Given the description of an element on the screen output the (x, y) to click on. 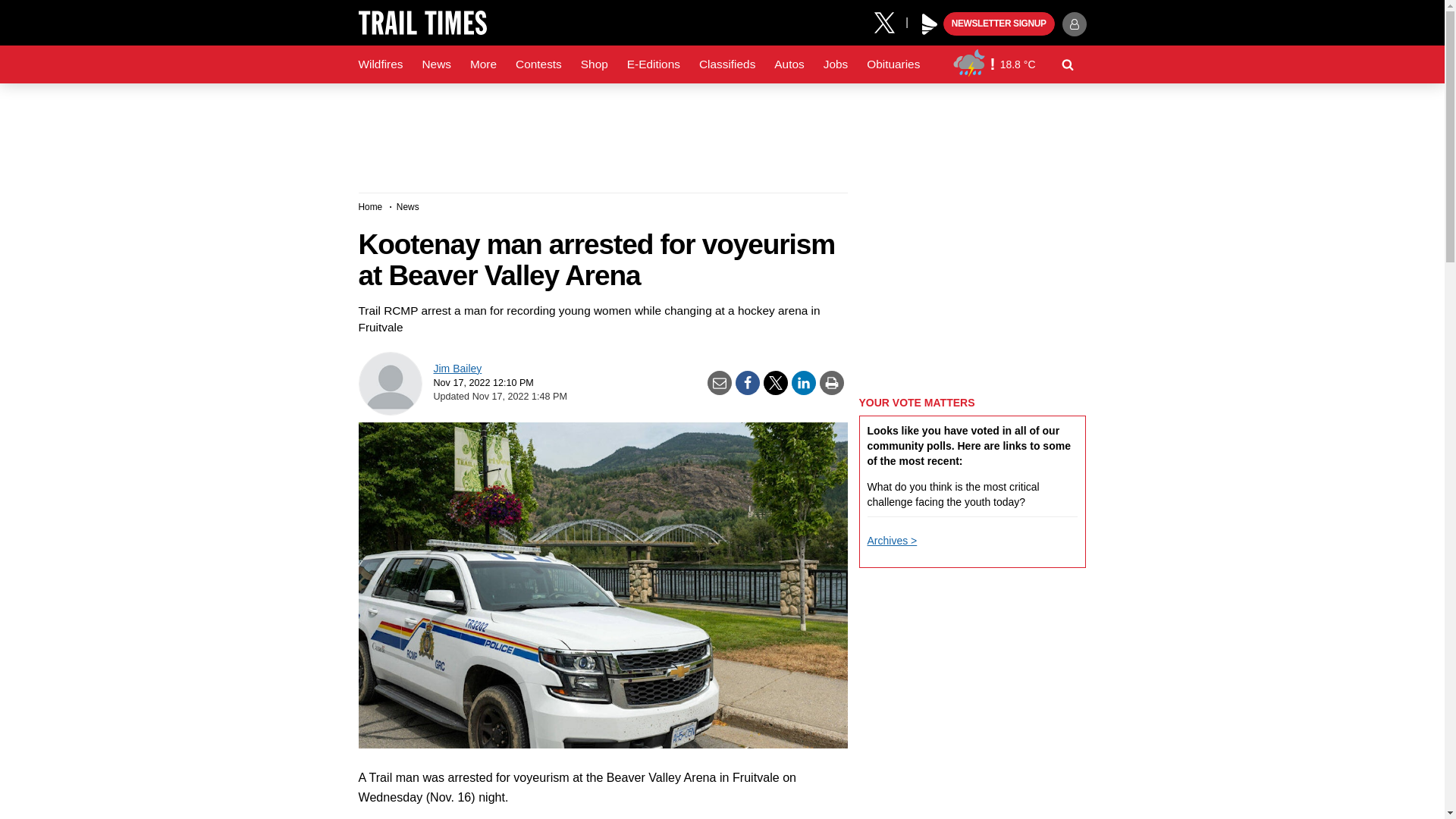
NEWSLETTER SIGNUP (998, 24)
Wildfires (380, 64)
X (889, 21)
News (435, 64)
Play (929, 24)
Black Press Media (929, 24)
